Given the description of an element on the screen output the (x, y) to click on. 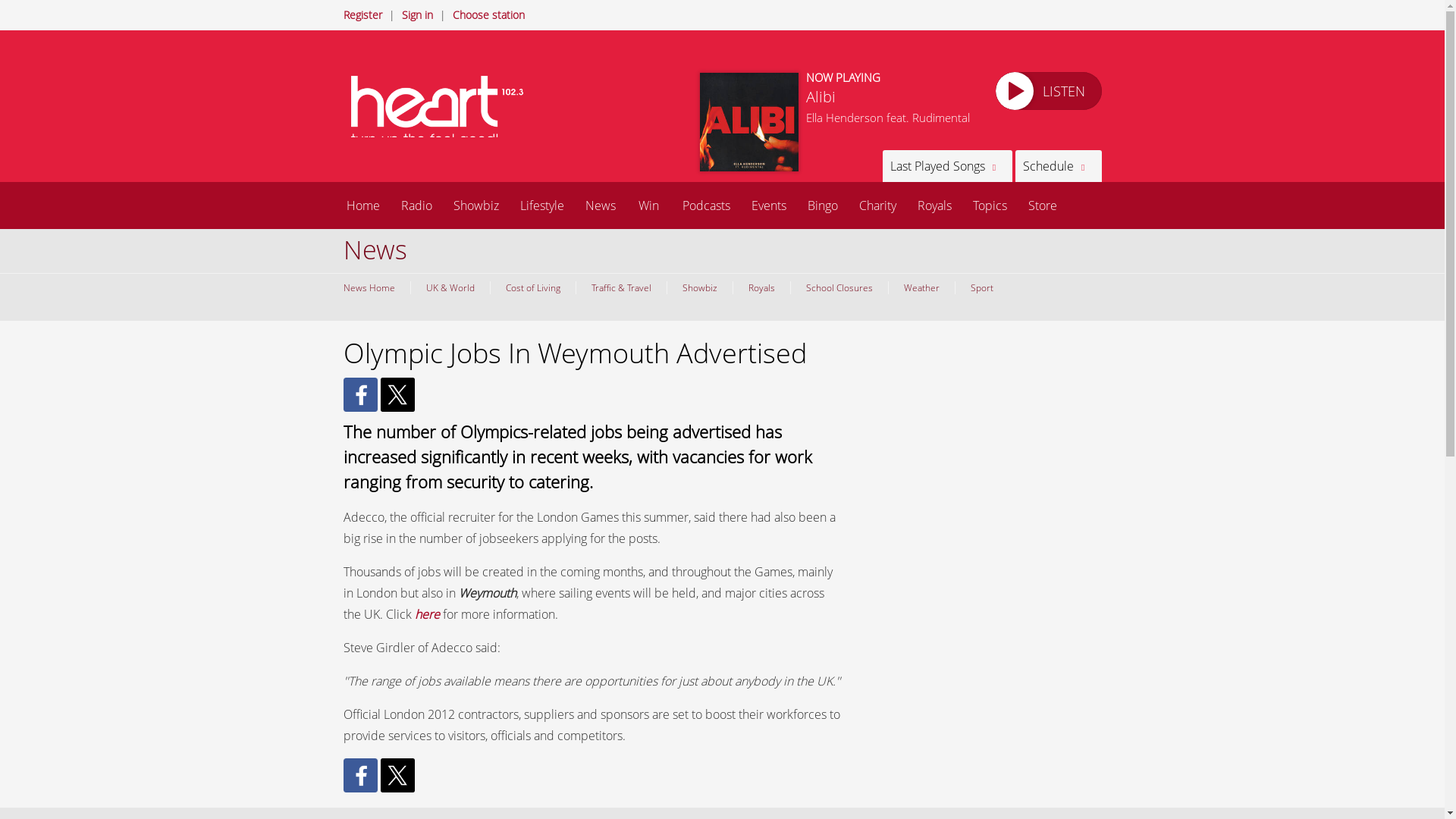
Choose station (487, 14)
Store (1042, 205)
School Closures (839, 287)
Royals (761, 287)
Radio (416, 205)
News Home (371, 287)
News (600, 205)
Topics (988, 205)
Charity (876, 205)
Last Played Songs (946, 165)
Register (361, 14)
LISTEN (1047, 90)
Heart Dorset (441, 111)
Royals (934, 205)
Showbiz (475, 205)
